Given the description of an element on the screen output the (x, y) to click on. 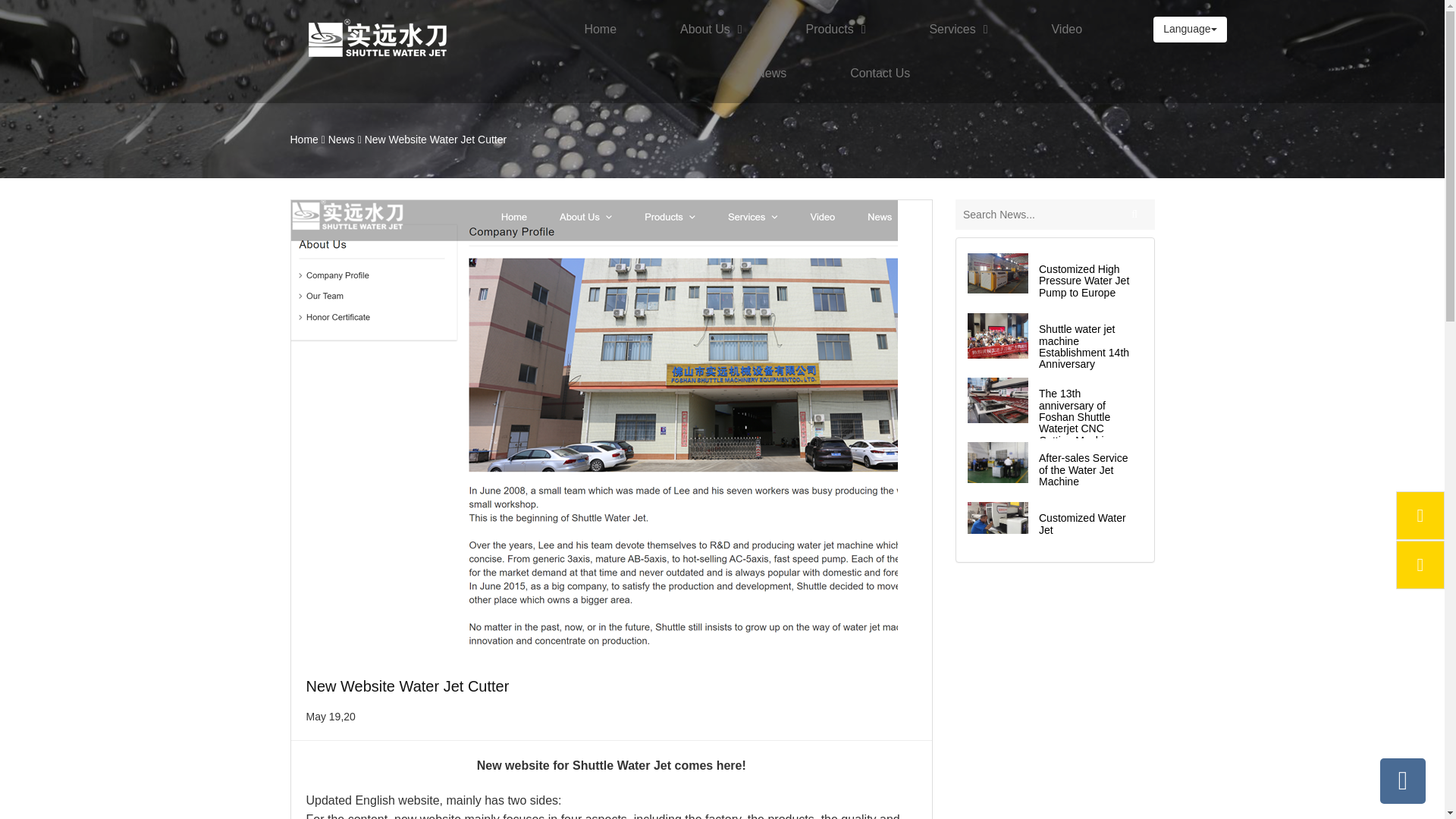
Shuttle water jet machine Establishment 14th Anniversary (997, 335)
About Us (711, 29)
Customized Water Jet (997, 517)
Video (1066, 29)
Shuttle water jet machine Establishment 14th Anniversary (1084, 346)
Customized Water Jet (1082, 523)
Language (1189, 29)
Services (957, 29)
After-sales Service of the Water Jet Machine (997, 462)
Contact Us (879, 73)
News (770, 73)
Home (599, 29)
Customized High Pressure Water Jet Pump to Europe (1084, 280)
